Given the description of an element on the screen output the (x, y) to click on. 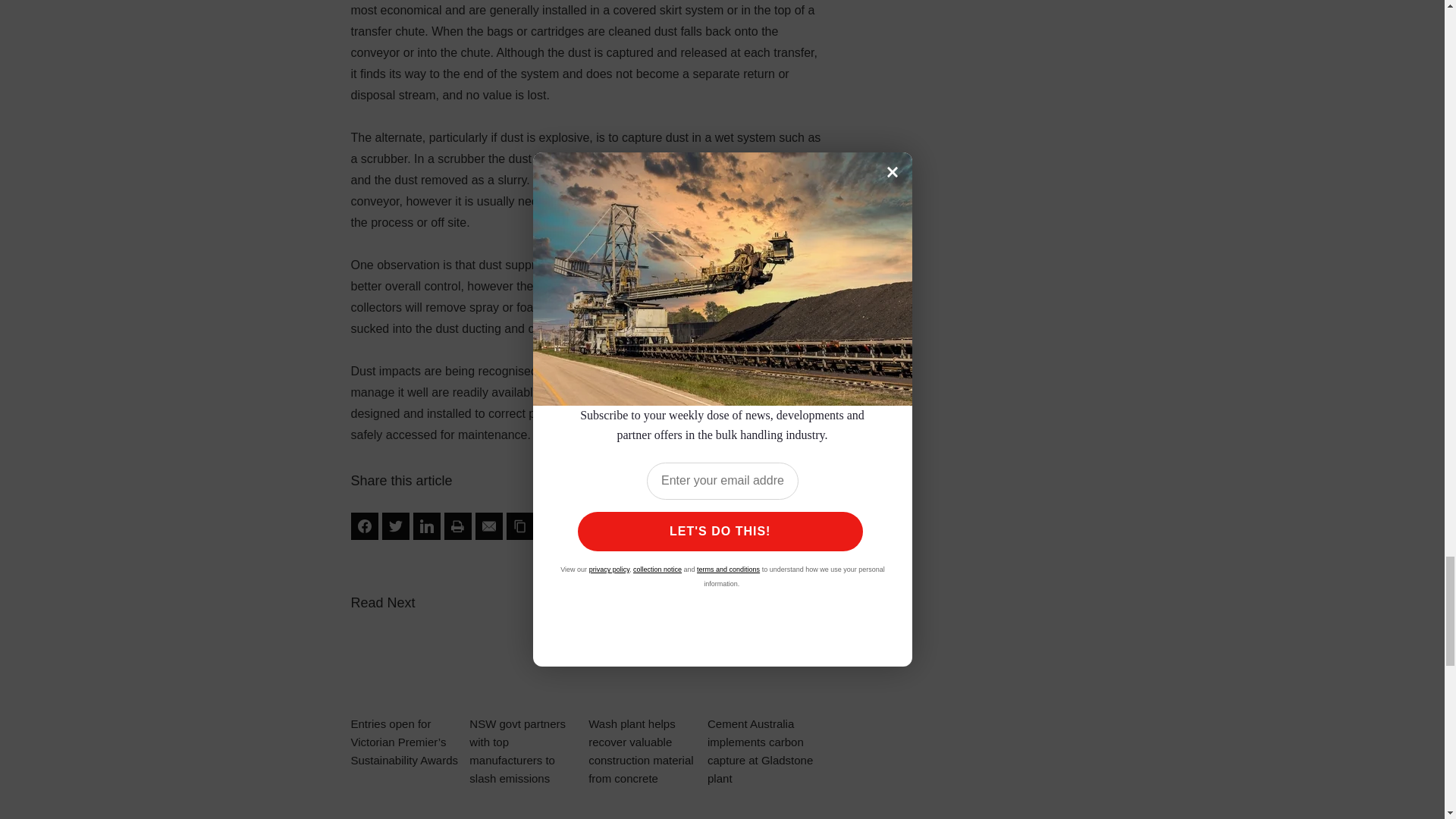
Share on LinkedIn (425, 525)
Share on Email (488, 525)
Share on Copy Link (520, 525)
Share on Twitter (395, 525)
Share on Print (457, 525)
Share on Facebook (363, 525)
